Given the description of an element on the screen output the (x, y) to click on. 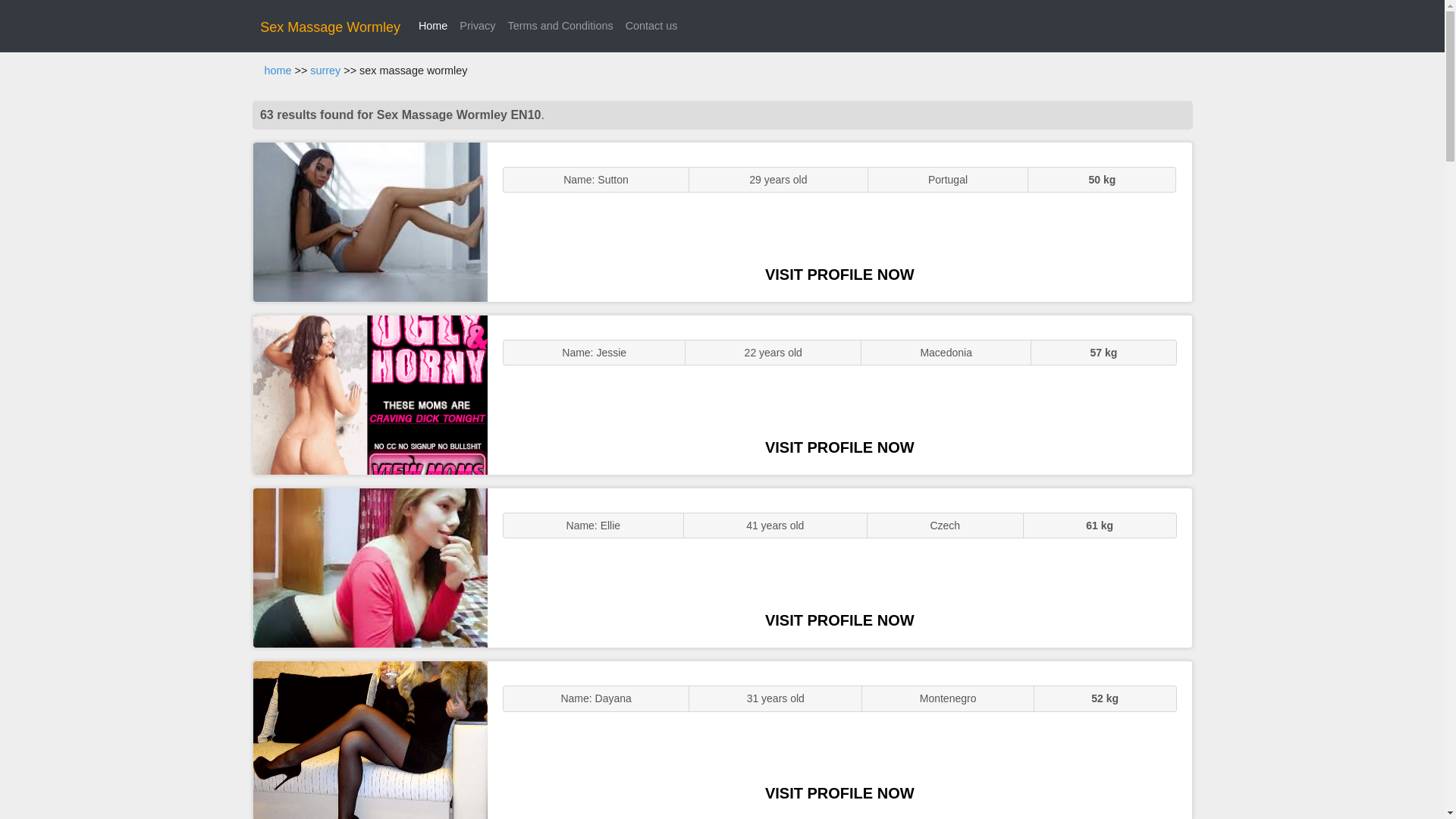
VISIT PROFILE NOW (839, 792)
Privacy (476, 25)
VISIT PROFILE NOW (839, 274)
Sexy (370, 567)
Sluts (370, 739)
GFE (370, 395)
surrey (325, 70)
Sex Massage Wormley (330, 27)
VISIT PROFILE NOW (839, 619)
Contact us (652, 25)
